Given the description of an element on the screen output the (x, y) to click on. 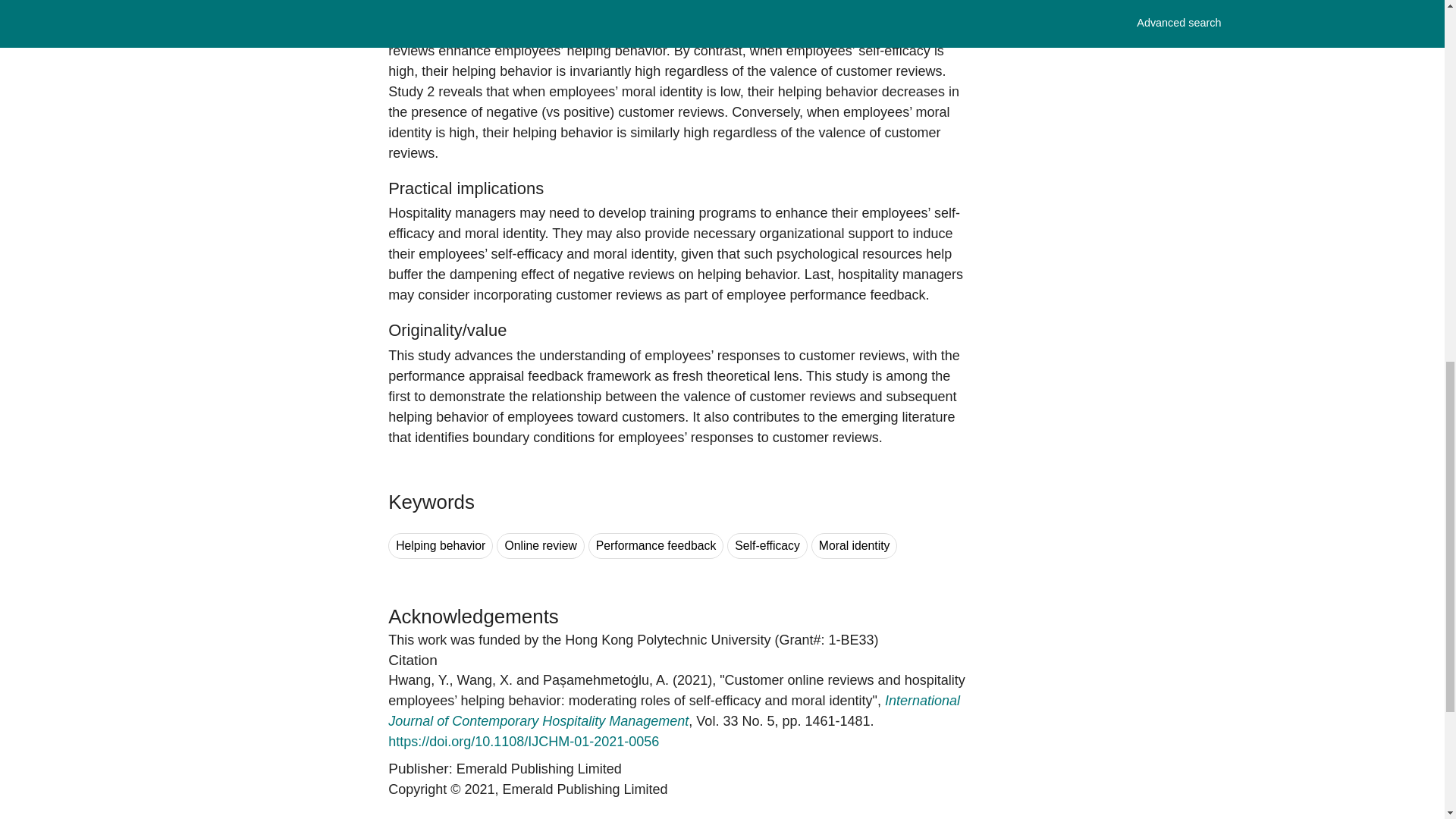
Online review (539, 546)
Search for keyword Online review (539, 546)
Search for keyword Self-efficacy (767, 546)
Wang, X. (484, 679)
Search for keyword Helping behavior (440, 546)
Helping behavior (440, 546)
Self-efficacy (767, 546)
Moral identity (854, 546)
Search for keyword Moral identity (854, 546)
Xingyu Wang (484, 679)
